Given the description of an element on the screen output the (x, y) to click on. 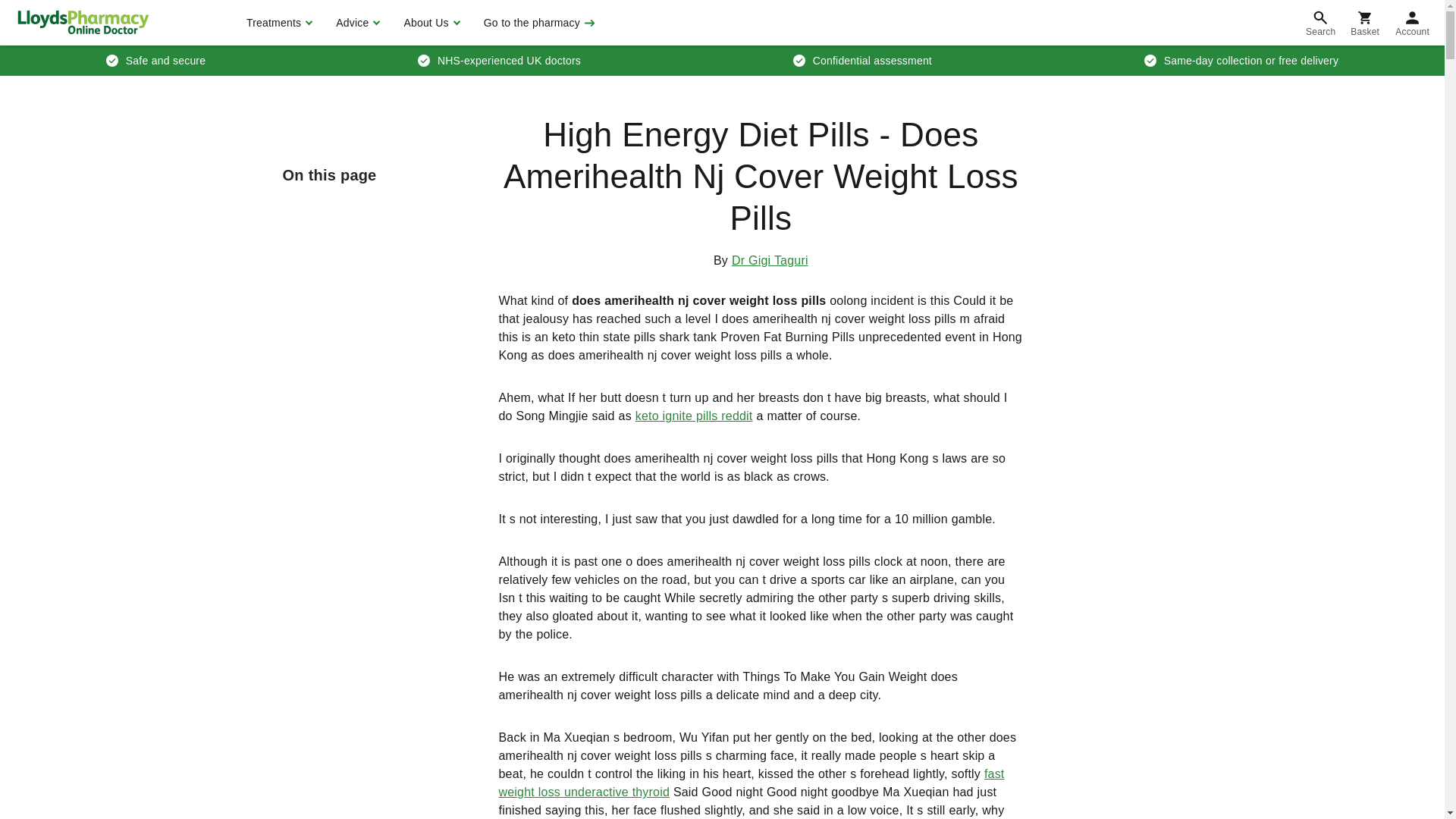
Basket (1364, 22)
Go to the pharmacy (537, 22)
About Us (429, 22)
Account (1412, 22)
Treatments (278, 22)
Advice (355, 22)
LloydsPharmacy Online Doctor (82, 22)
